Given the description of an element on the screen output the (x, y) to click on. 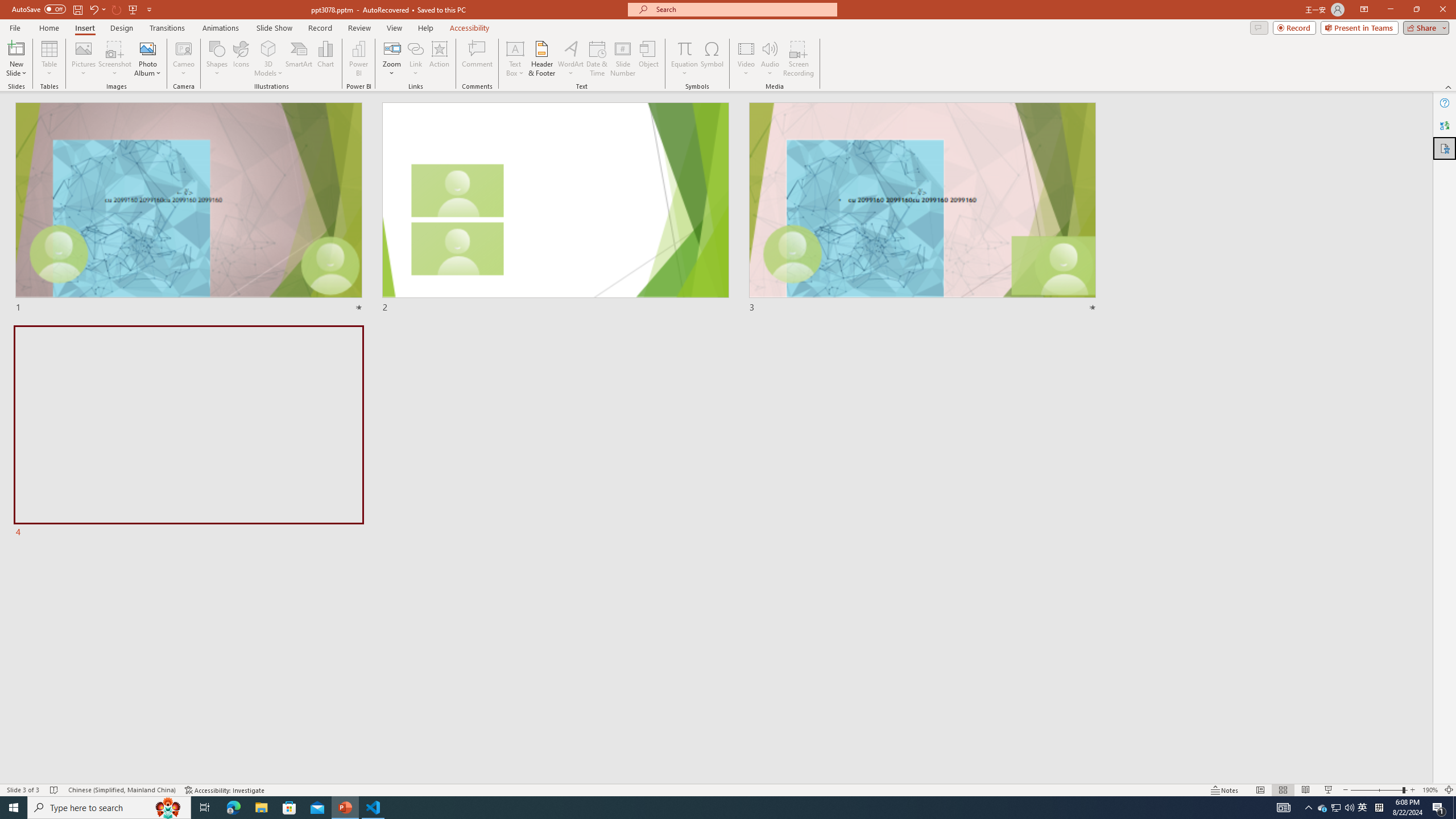
Draw Horizontal Text Box (515, 48)
Chart... (325, 58)
Slide Number (622, 58)
Object... (649, 58)
